Given the description of an element on the screen output the (x, y) to click on. 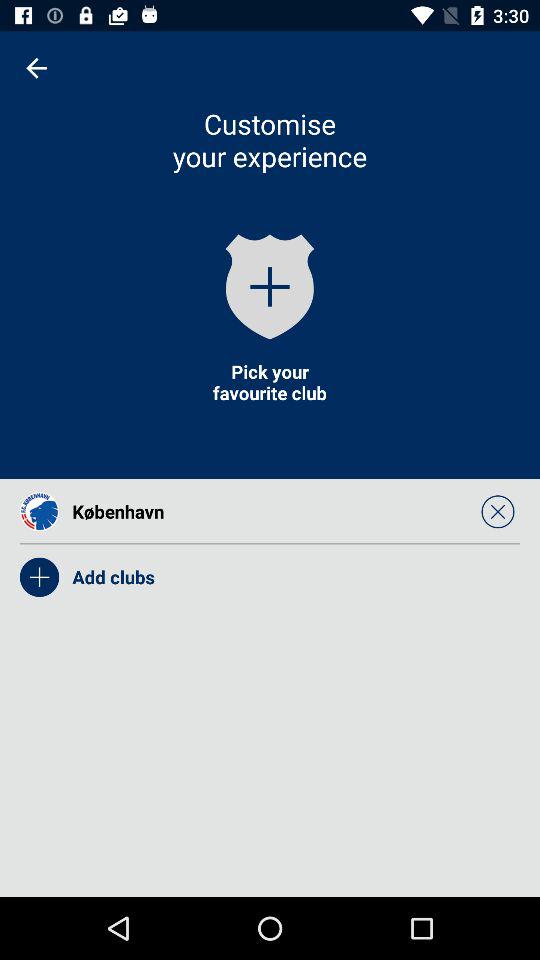
select item on the right (497, 511)
